Given the description of an element on the screen output the (x, y) to click on. 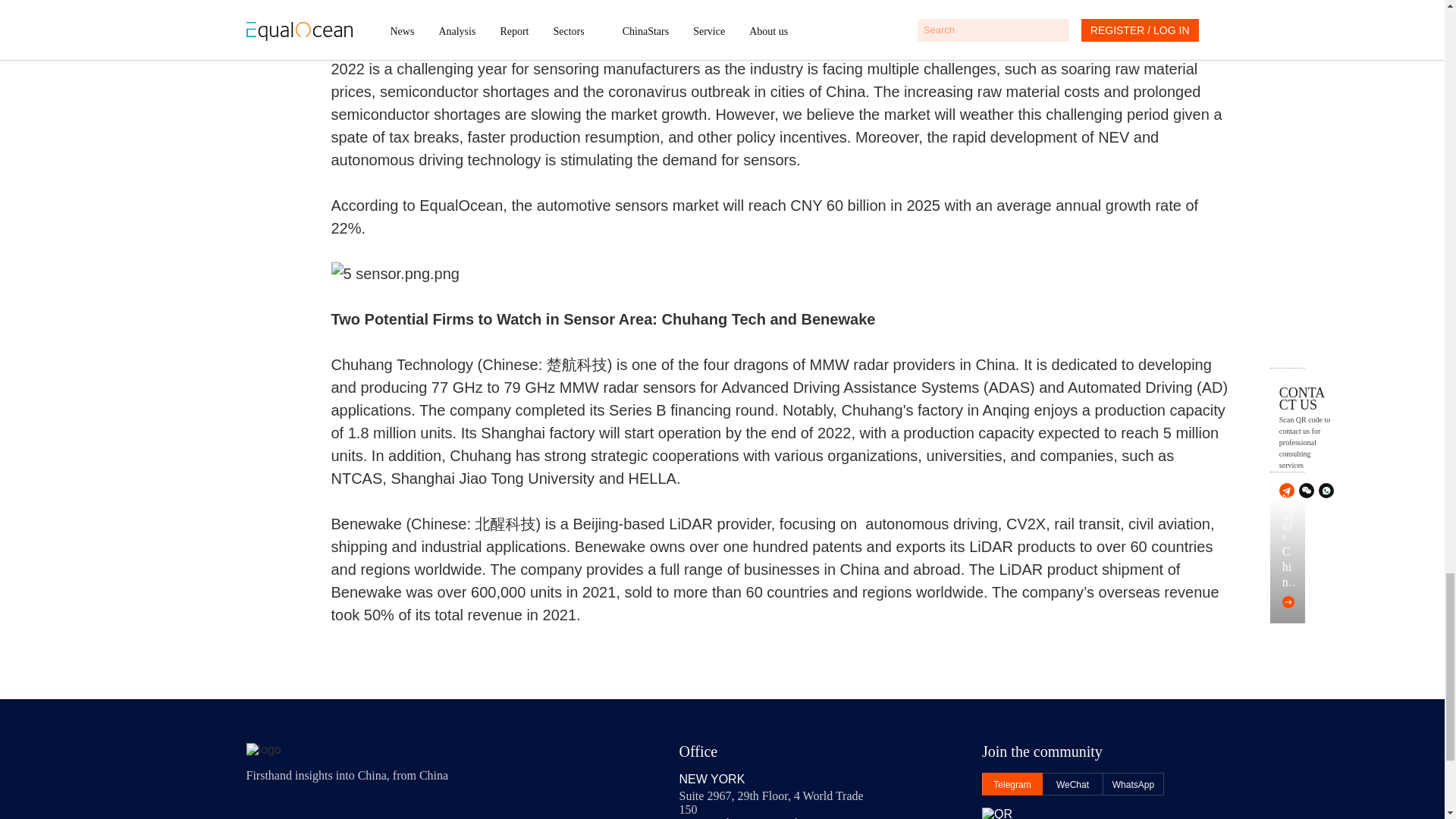
16660846529956.png (781, 273)
